Given the description of an element on the screen output the (x, y) to click on. 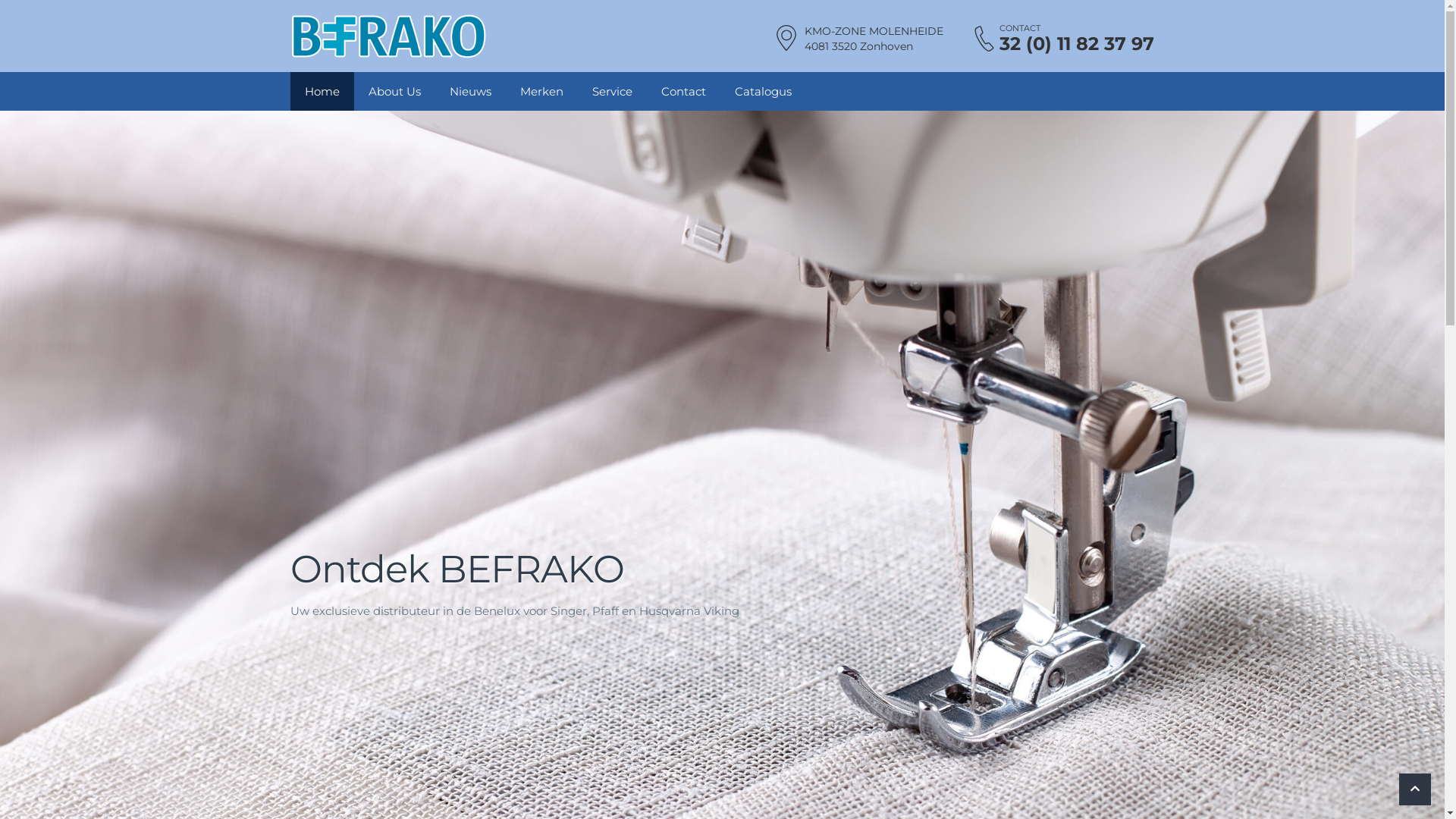
Home Element type: text (321, 91)
About Us Element type: text (393, 91)
Service Element type: text (611, 91)
Catalogus Element type: text (763, 91)
Nieuws Element type: text (470, 91)
Contact Element type: text (682, 91)
Merken Element type: text (541, 91)
